Given the description of an element on the screen output the (x, y) to click on. 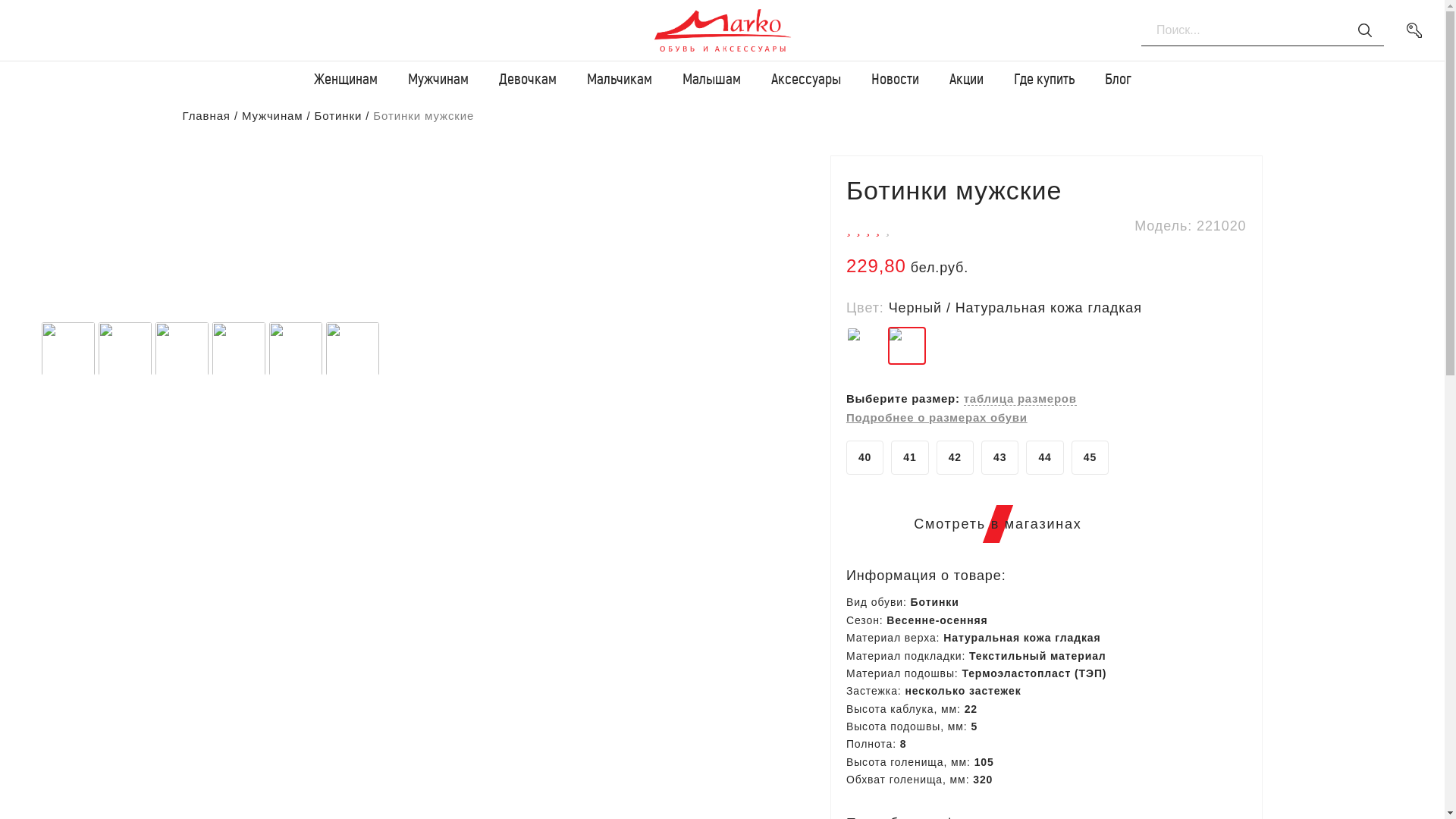
Marko Element type: text (722, 30)
